Given the description of an element on the screen output the (x, y) to click on. 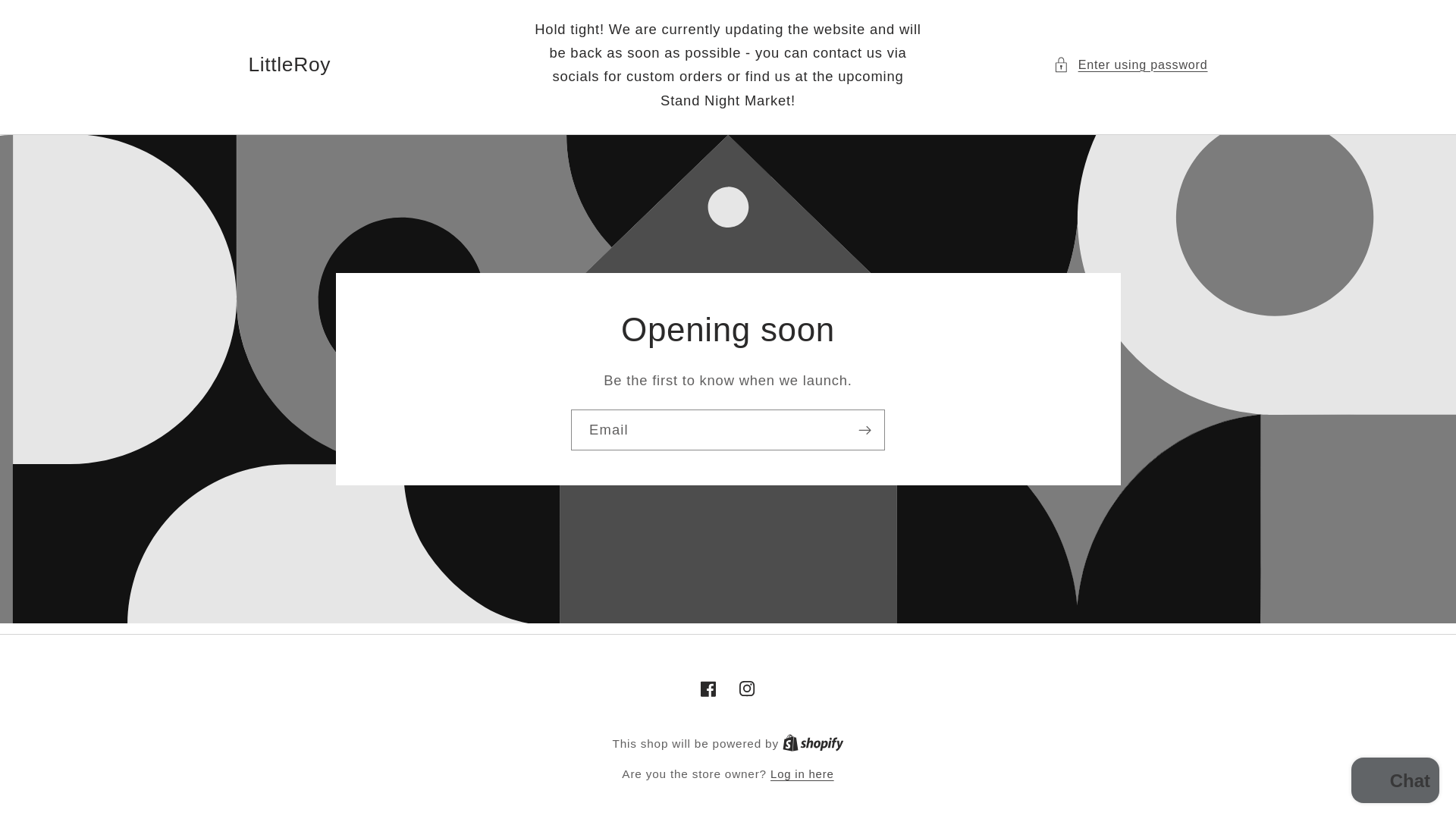
Instagram (747, 688)
Shopify logo (813, 742)
Log in here (802, 773)
Shopify online store chat (1395, 781)
Create your own online store with Shopify (813, 743)
Skip to content (813, 743)
Facebook (52, 20)
